Given the description of an element on the screen output the (x, y) to click on. 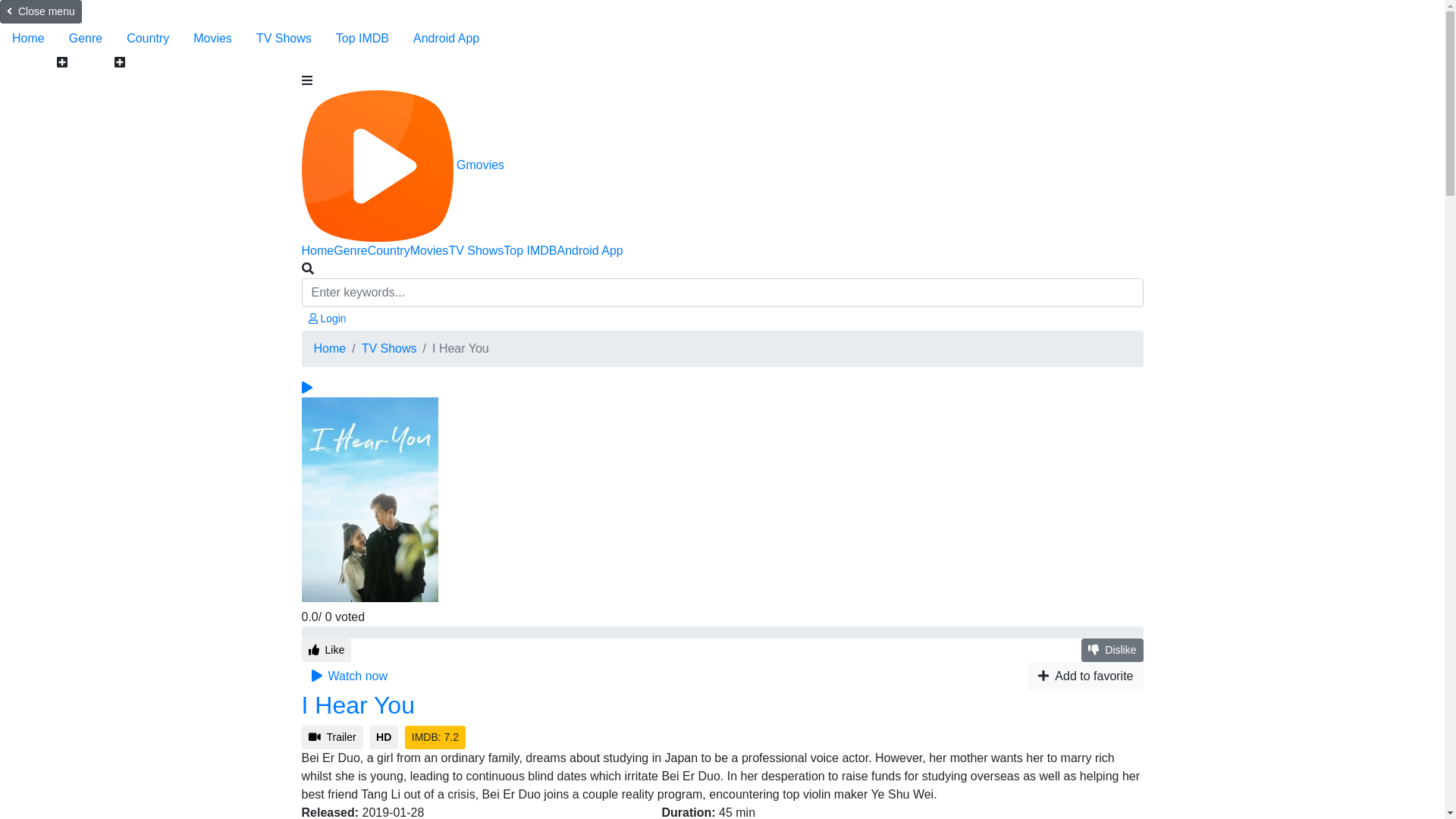
Top IMDB Element type: text (362, 38)
Login Element type: text (327, 318)
Watch now Element type: text (349, 676)
Top IMDB Element type: text (529, 250)
Home Element type: text (317, 250)
TV Shows Element type: text (283, 38)
Gmovies Element type: text (403, 164)
Close menu Element type: text (40, 11)
Genre Element type: text (85, 38)
Trailer Element type: text (332, 737)
Country Element type: text (147, 38)
Movies Element type: text (212, 38)
I Hear You Element type: text (357, 704)
Dislike Element type: text (1111, 650)
HD Element type: text (383, 737)
Home Element type: text (28, 38)
Movies Element type: text (429, 250)
TV Shows Element type: text (475, 250)
IMDB: 7.2 Element type: text (434, 737)
Like Element type: text (326, 650)
Add to favorite Element type: text (1085, 676)
Android App Element type: text (590, 250)
TV Shows Element type: text (389, 348)
Genre Element type: text (350, 250)
I Hear You Element type: hover (369, 499)
Country Element type: text (388, 250)
Android App Element type: text (446, 38)
Home Element type: text (329, 348)
